Given the description of an element on the screen output the (x, y) to click on. 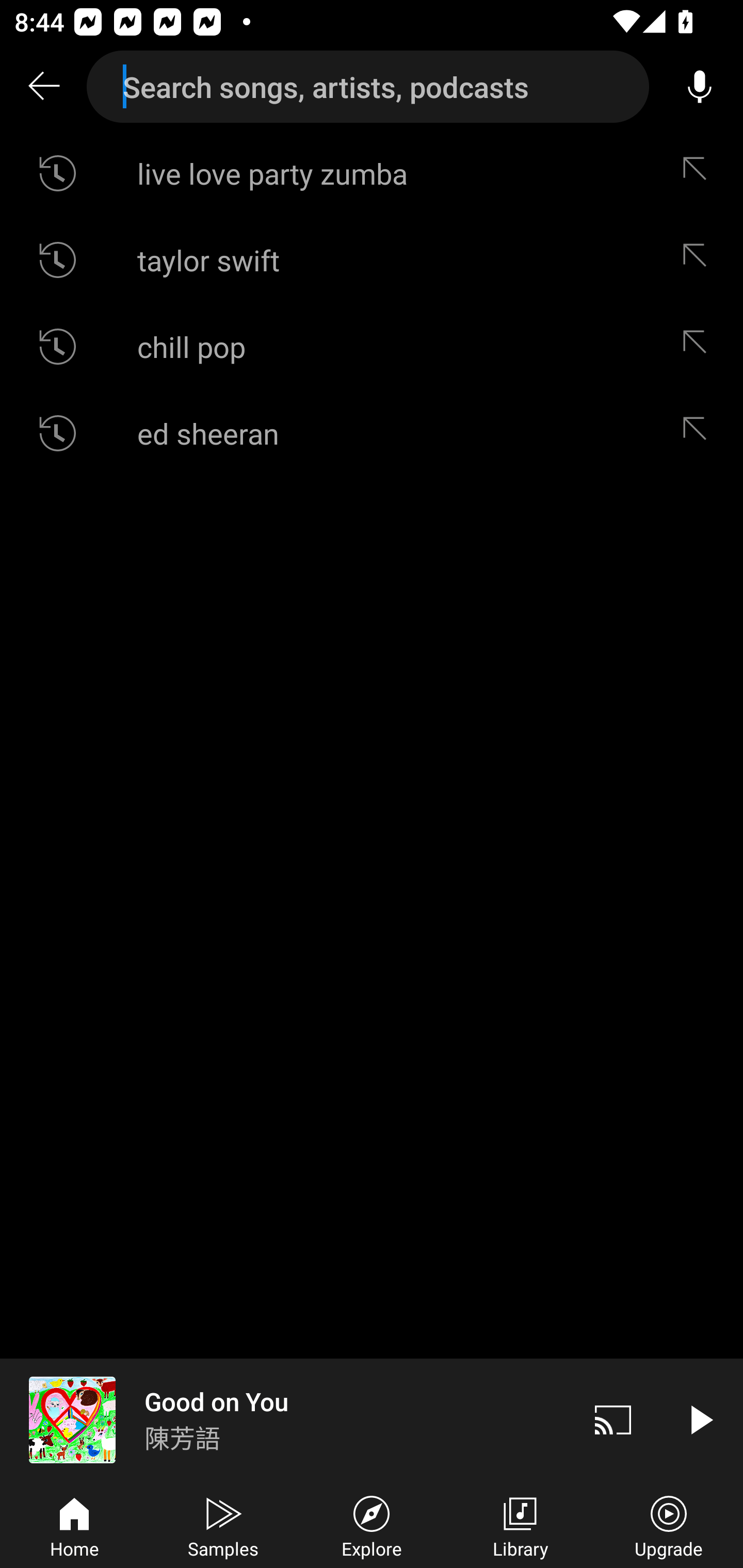
Search back (43, 86)
Search songs, artists, podcasts (367, 86)
Voice search (699, 86)
Edit suggestion live love party zumba (699, 173)
taylor swift Edit suggestion taylor swift (371, 259)
Edit suggestion taylor swift (699, 259)
chill pop Edit suggestion chill pop (371, 346)
Edit suggestion chill pop (699, 346)
ed sheeran Edit suggestion ed sheeran (371, 433)
Edit suggestion ed sheeran (699, 433)
Good on You 陳芳語 (284, 1419)
Cast. Disconnected (612, 1419)
Play video (699, 1419)
Home (74, 1524)
Samples (222, 1524)
Explore (371, 1524)
Library (519, 1524)
Upgrade (668, 1524)
